Given the description of an element on the screen output the (x, y) to click on. 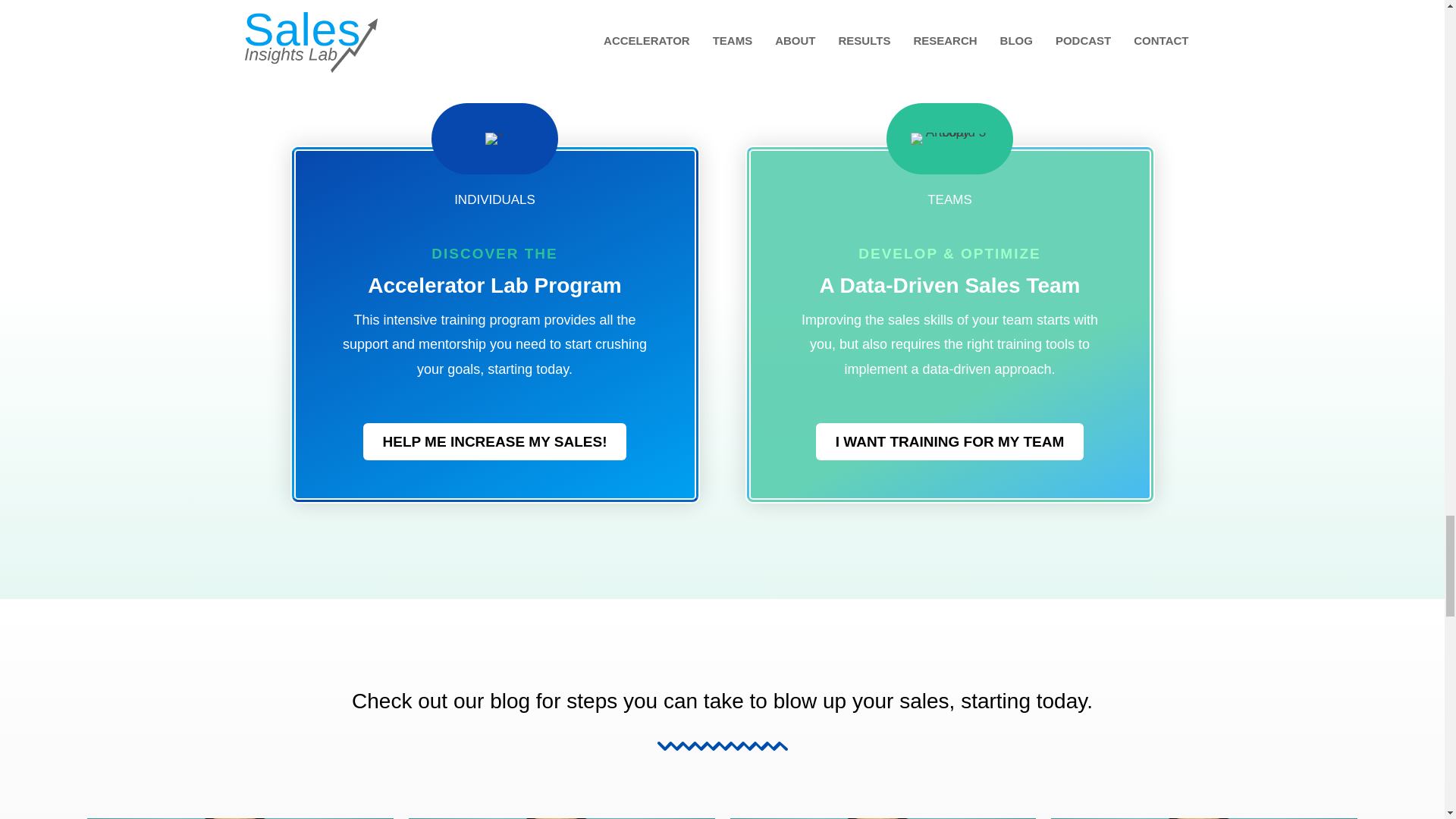
I WANT TRAINING FOR MY TEAM (949, 441)
v (493, 138)
Artboard 3 copy (949, 138)
HELP ME INCREASE MY SALES! (494, 441)
